Given the description of an element on the screen output the (x, y) to click on. 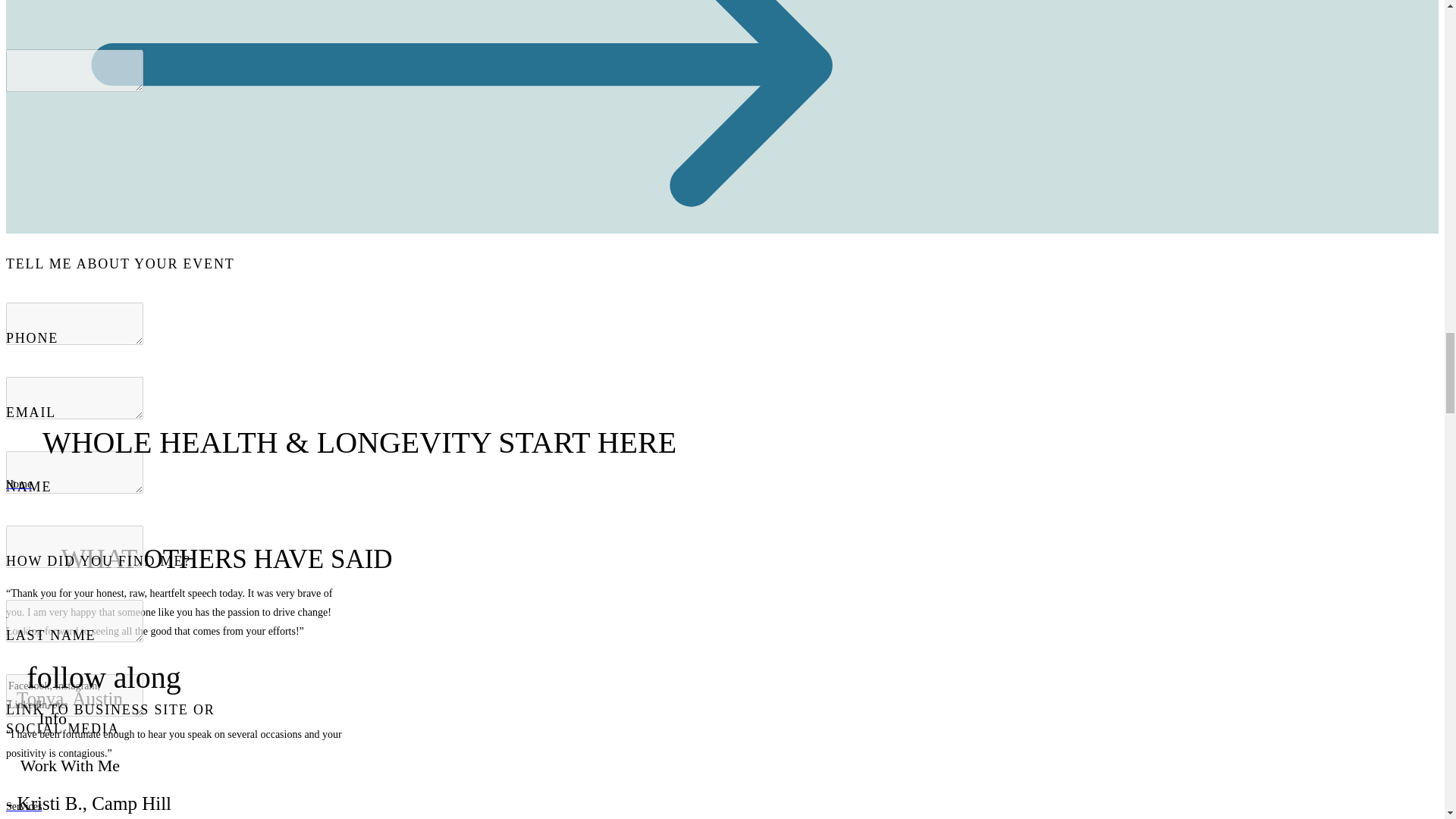
Services (460, 805)
Home (460, 484)
